Given the description of an element on the screen output the (x, y) to click on. 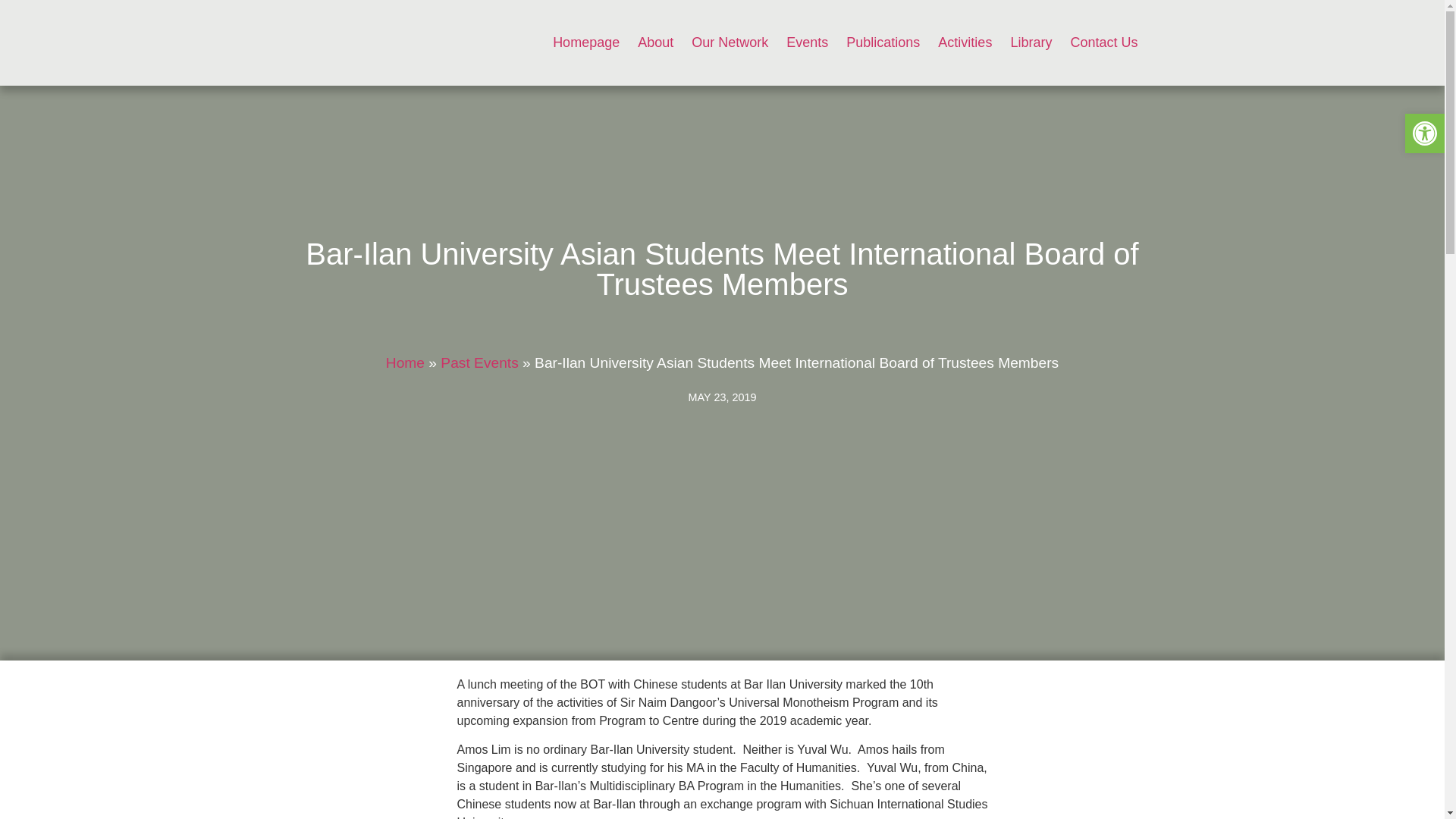
Our Network (729, 42)
Contact Us (1104, 42)
Library (1031, 42)
Events (807, 42)
Accessibility Tools (1424, 133)
Homepage (585, 42)
Activities (964, 42)
Publications (882, 42)
About (655, 42)
